Given the description of an element on the screen output the (x, y) to click on. 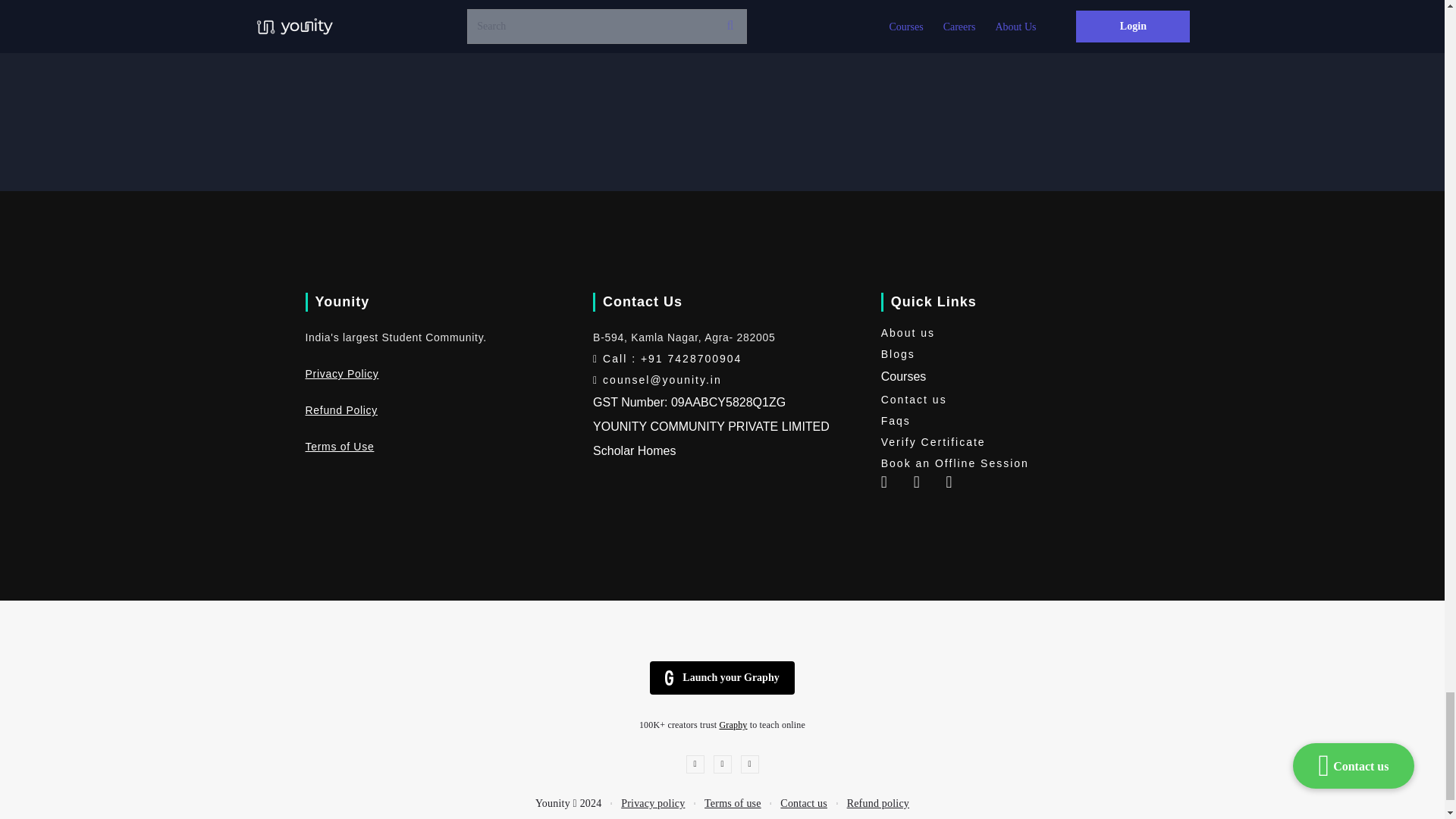
Refund Policy (340, 410)
Contact us (1009, 399)
Terms of Use (339, 446)
Faqs (1009, 420)
Privacy Policy (341, 373)
Courses (903, 376)
Blogs (1009, 353)
About us (1009, 332)
